Given the description of an element on the screen output the (x, y) to click on. 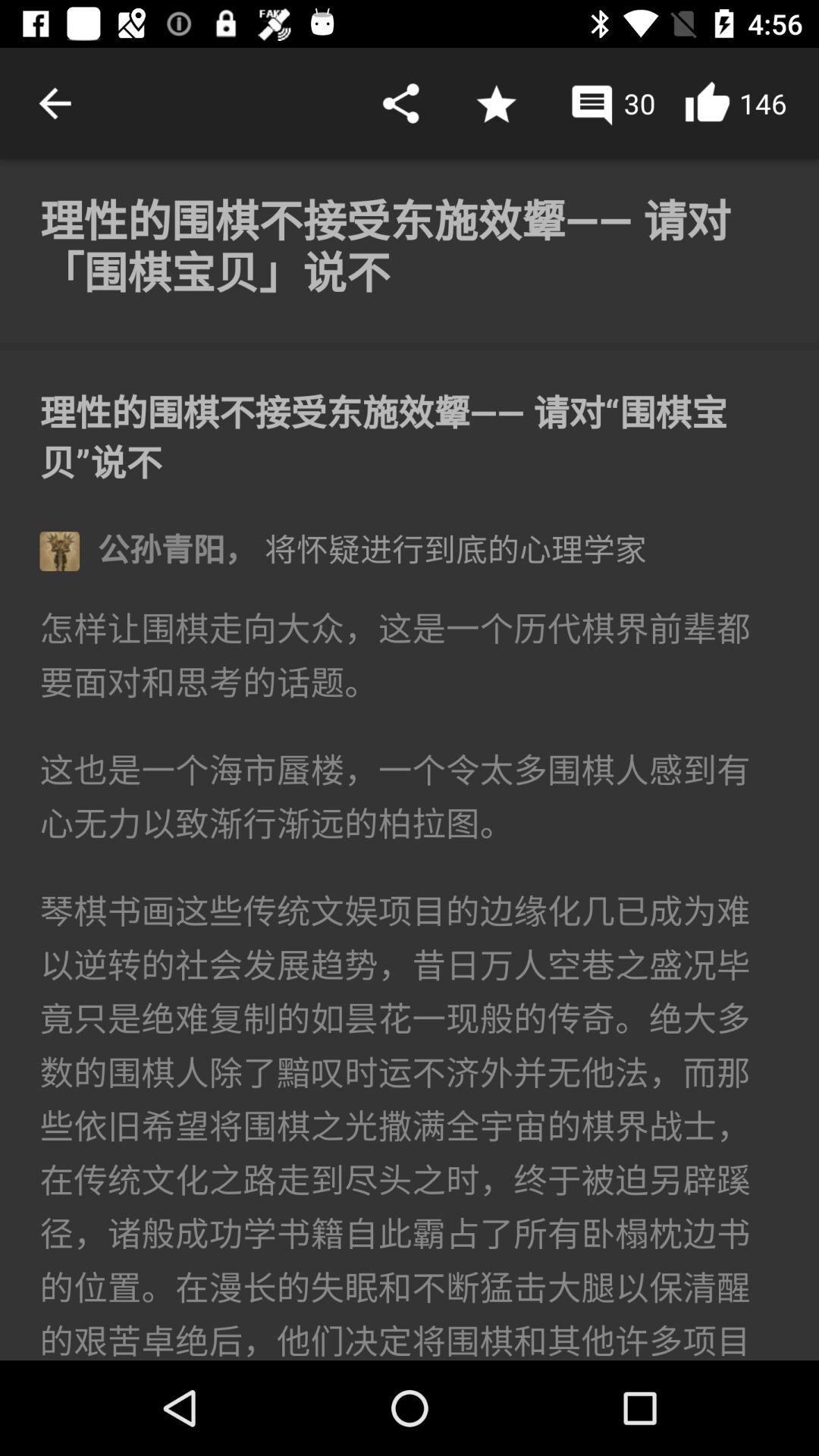
choose favourite symbol (496, 103)
